Given the description of an element on the screen output the (x, y) to click on. 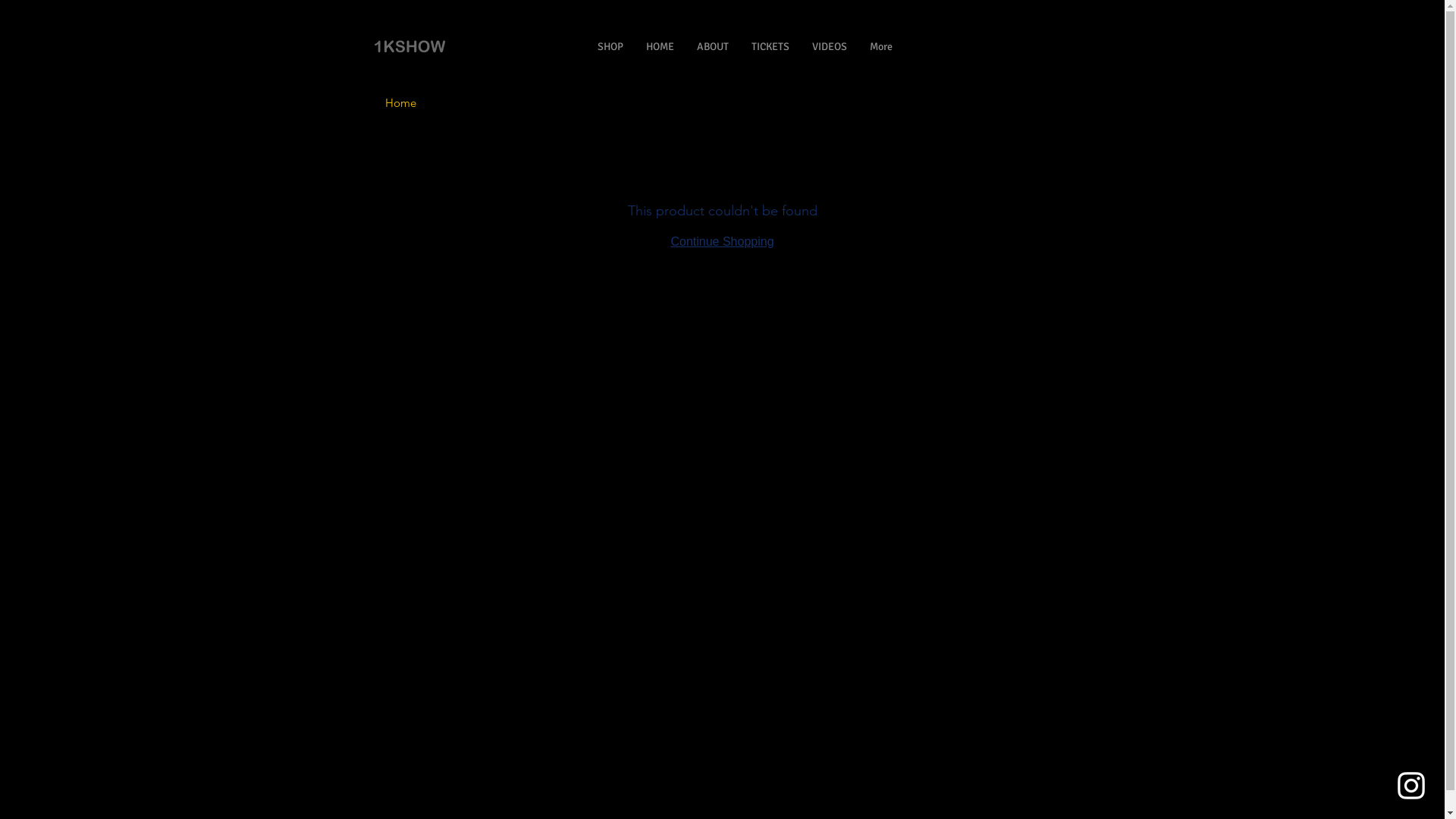
ABOUT Element type: text (712, 46)
TICKETS Element type: text (770, 46)
Continue Shopping Element type: text (721, 241)
VIDEOS Element type: text (829, 46)
HOME Element type: text (658, 46)
Home Element type: text (400, 102)
SHOP Element type: text (609, 46)
